Given the description of an element on the screen output the (x, y) to click on. 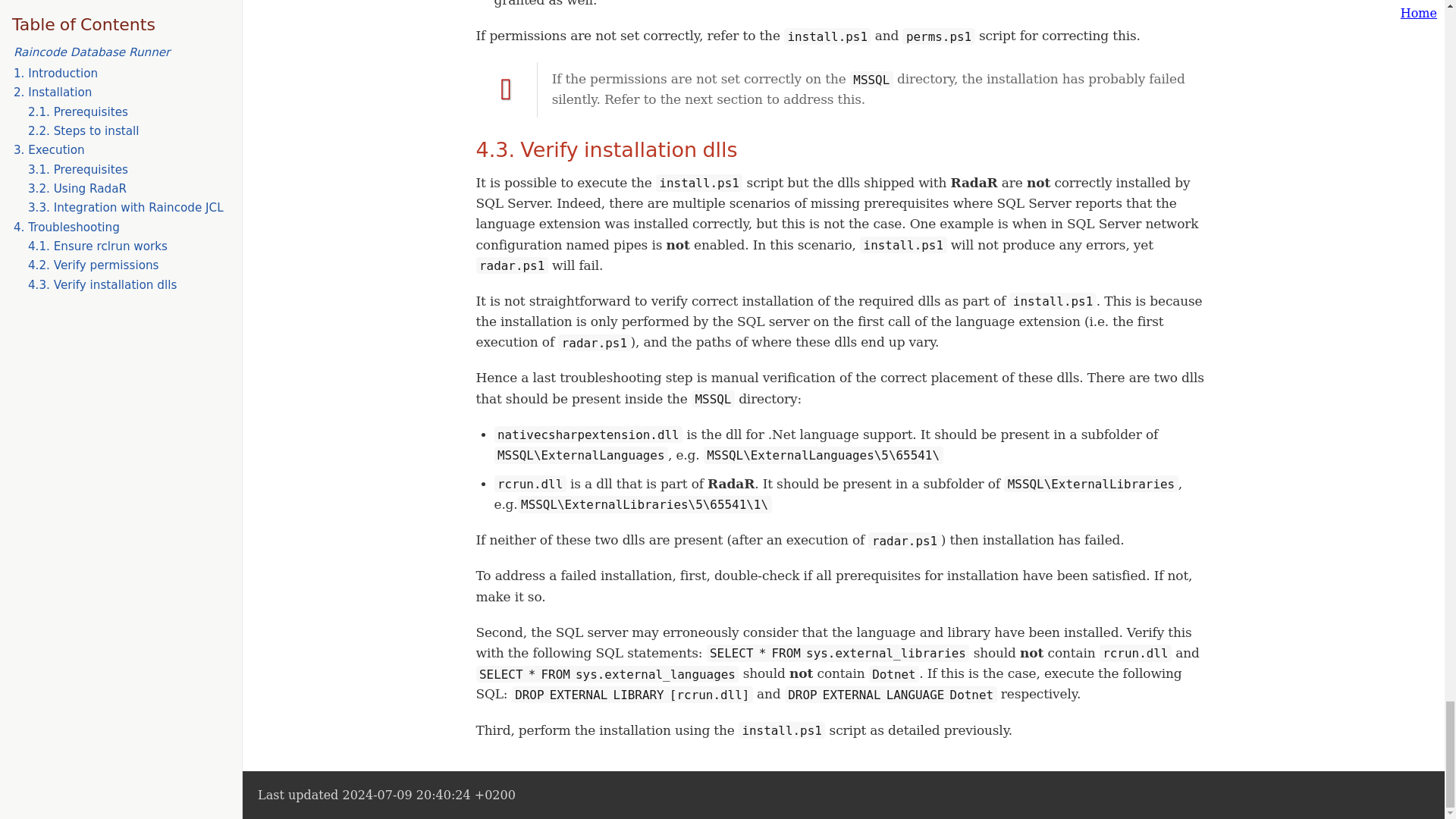
Important (506, 89)
